Given the description of an element on the screen output the (x, y) to click on. 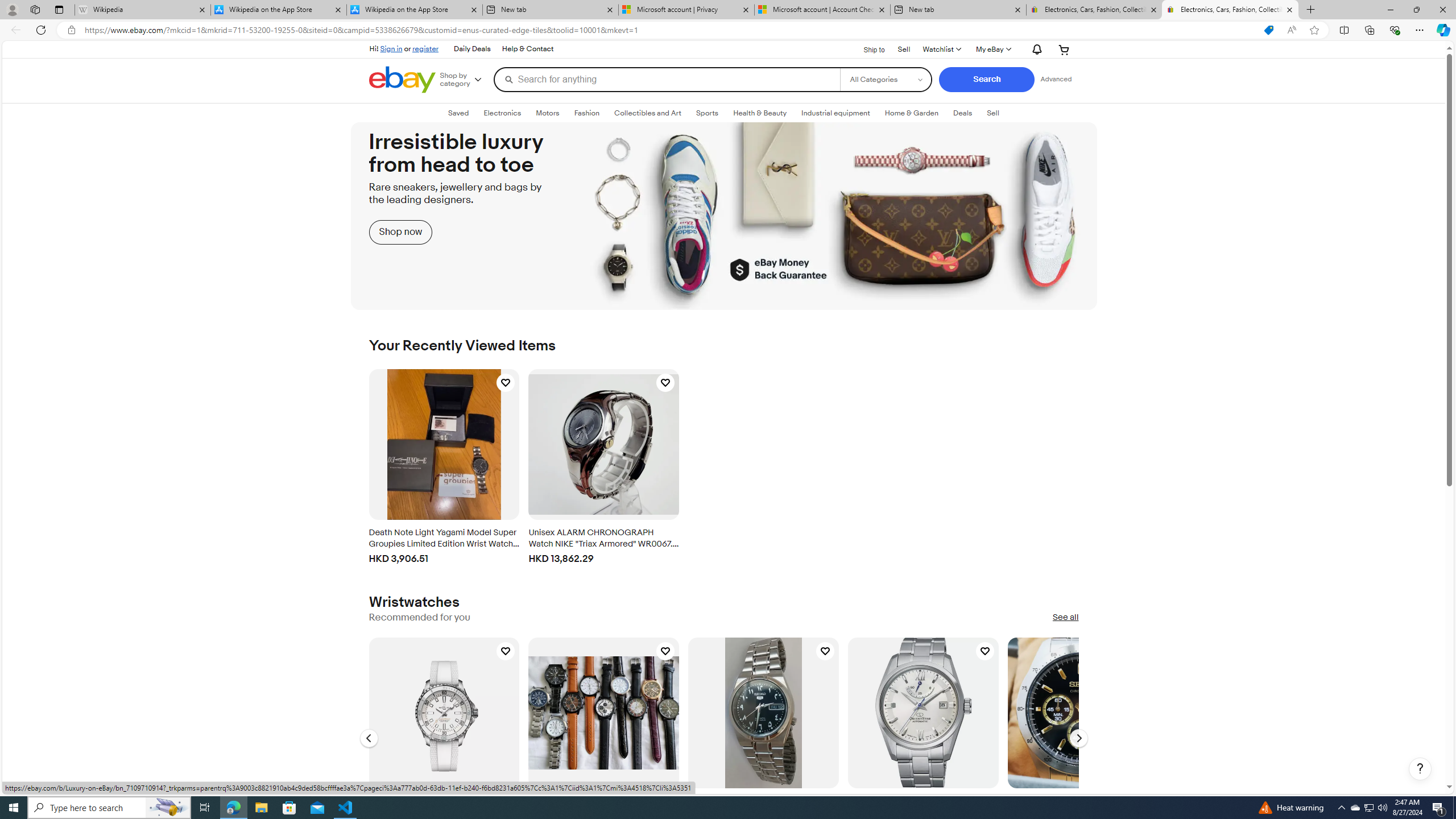
AutomationID: gh-eb-Alerts (1035, 49)
MotorsExpand: Motors (547, 112)
My eBayExpand My eBay (992, 49)
eBay Home (401, 79)
